Given the description of an element on the screen output the (x, y) to click on. 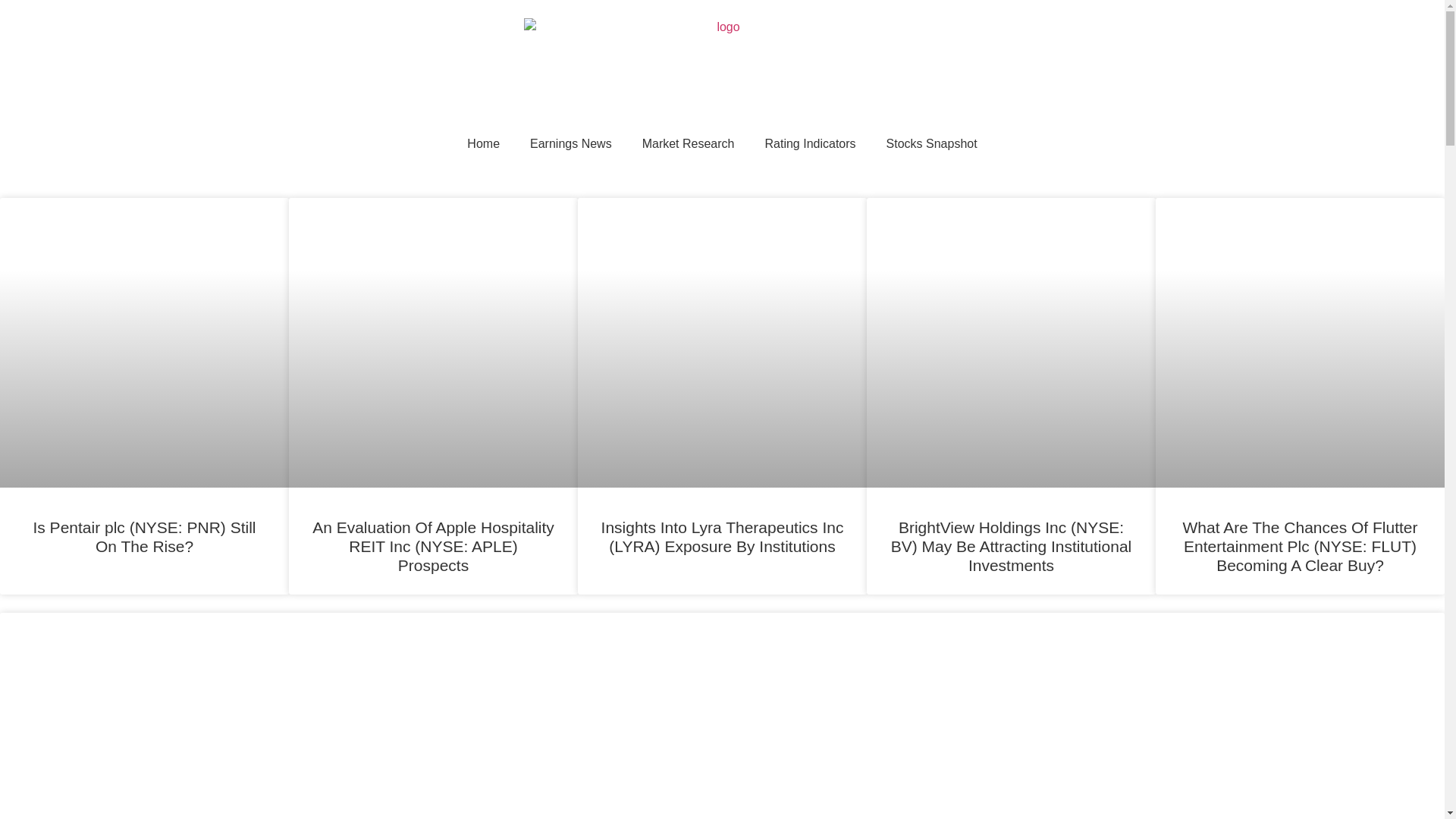
Earnings News (571, 143)
Stocks Snapshot (931, 143)
Market Research (688, 143)
Rating Indicators (809, 143)
Home (483, 143)
